Given the description of an element on the screen output the (x, y) to click on. 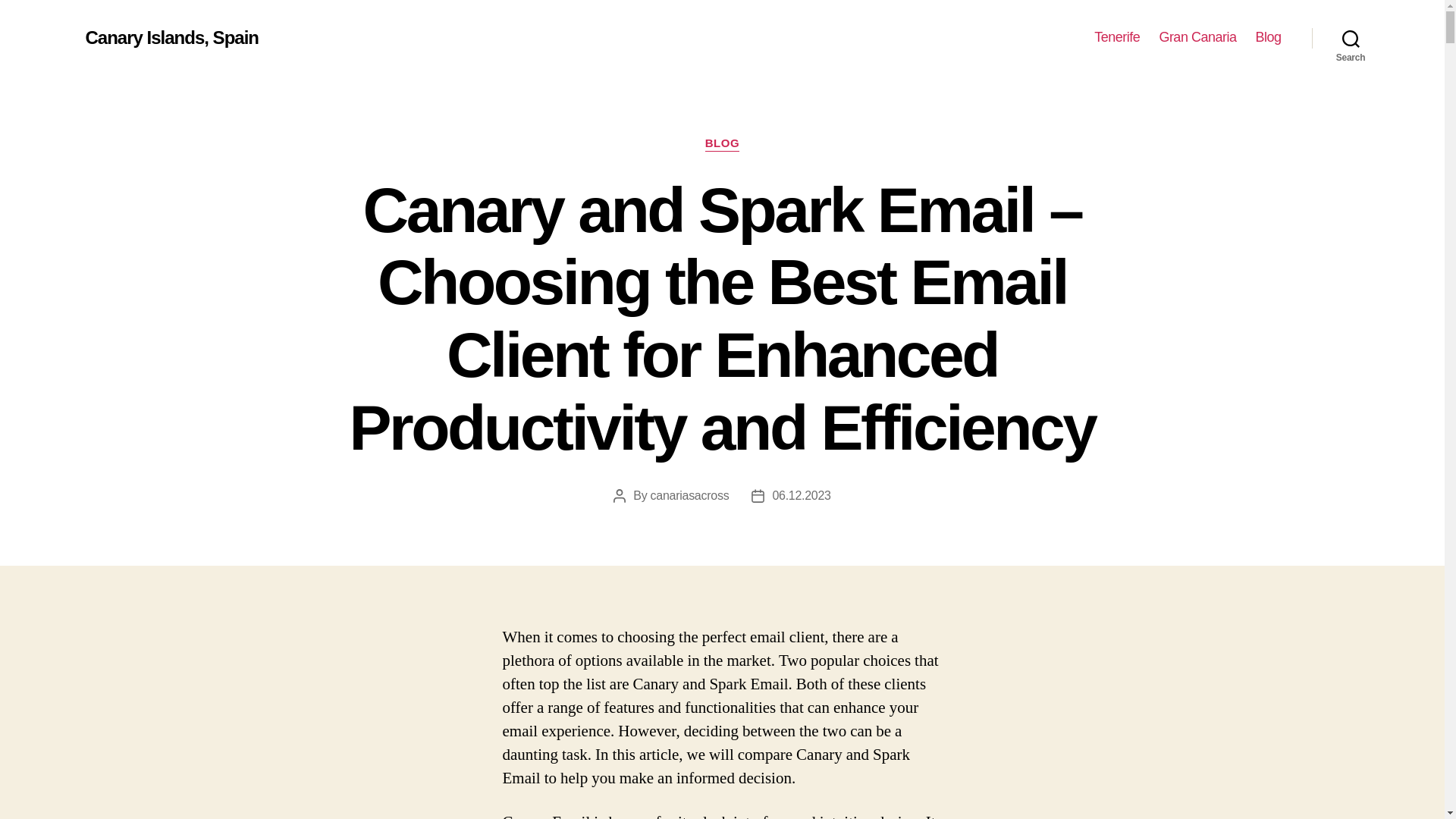
Tenerife (1117, 37)
canariasacross (689, 495)
06.12.2023 (800, 495)
Search (1350, 37)
Blog (1268, 37)
Canary Islands, Spain (170, 37)
Gran Canaria (1197, 37)
BLOG (721, 143)
